Given the description of an element on the screen output the (x, y) to click on. 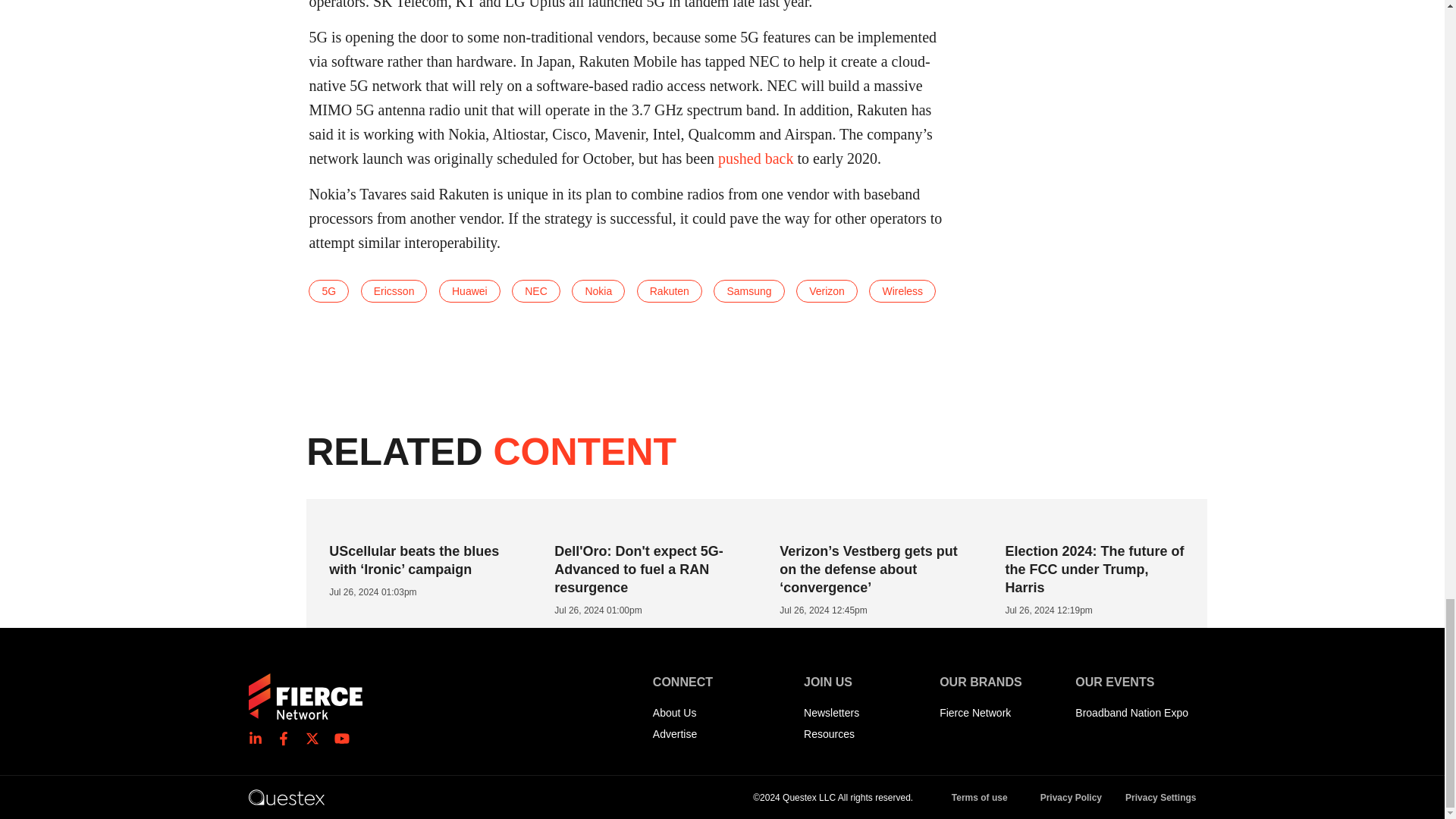
Dell'Oro: Don't expect 5G-Advanced to fuel a RAN resurgence (638, 569)
Election 2024: The future of the FCC under Trump, Harris (1093, 569)
